Given the description of an element on the screen output the (x, y) to click on. 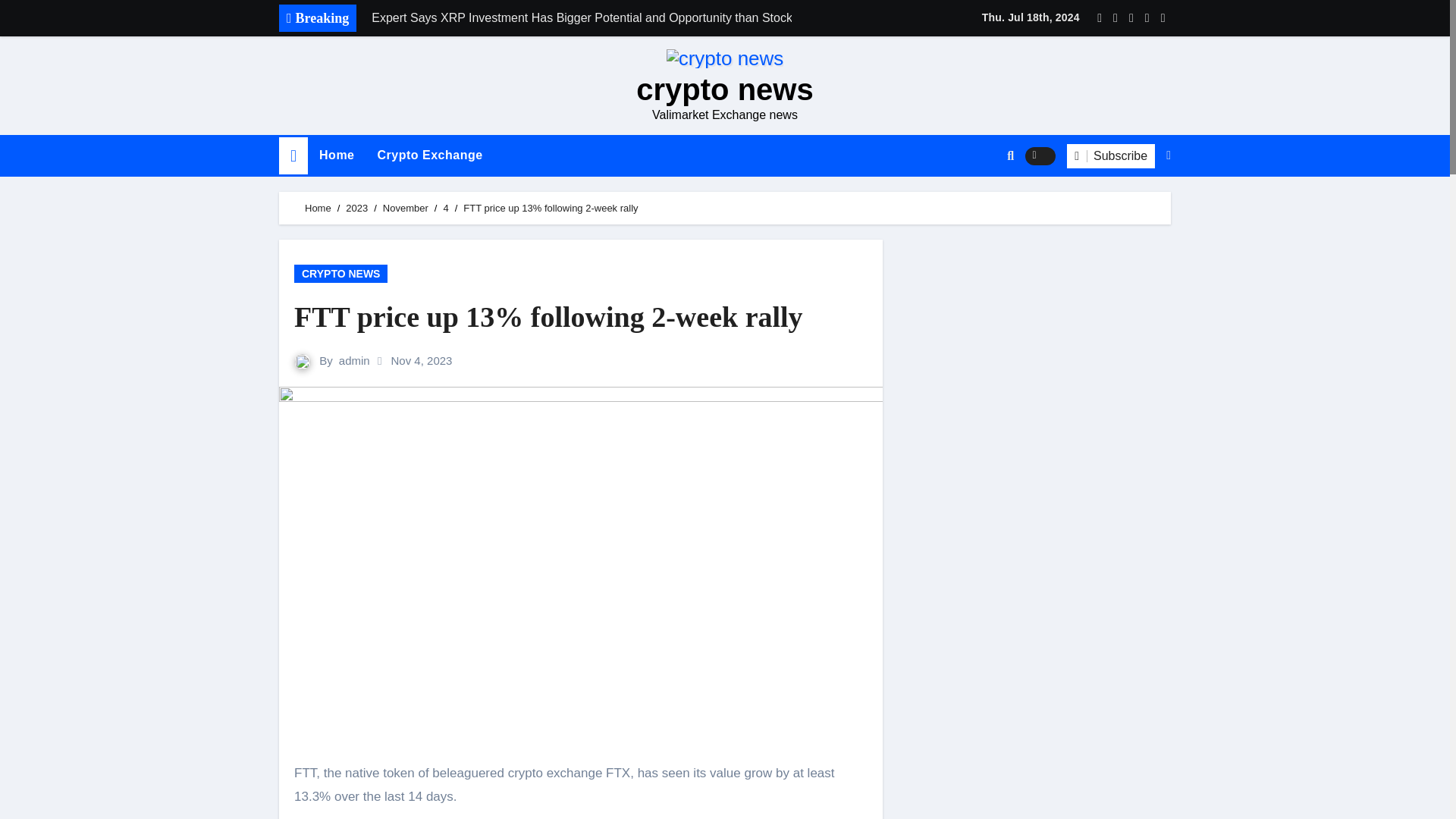
Crypto Exchange (429, 155)
crypto news (724, 89)
Home (336, 155)
Crypto Exchange (429, 155)
November (405, 207)
Home (336, 155)
2023 (357, 207)
admin (354, 359)
Home (317, 207)
CRYPTO NEWS (340, 273)
Subscribe (1110, 156)
